Given the description of an element on the screen output the (x, y) to click on. 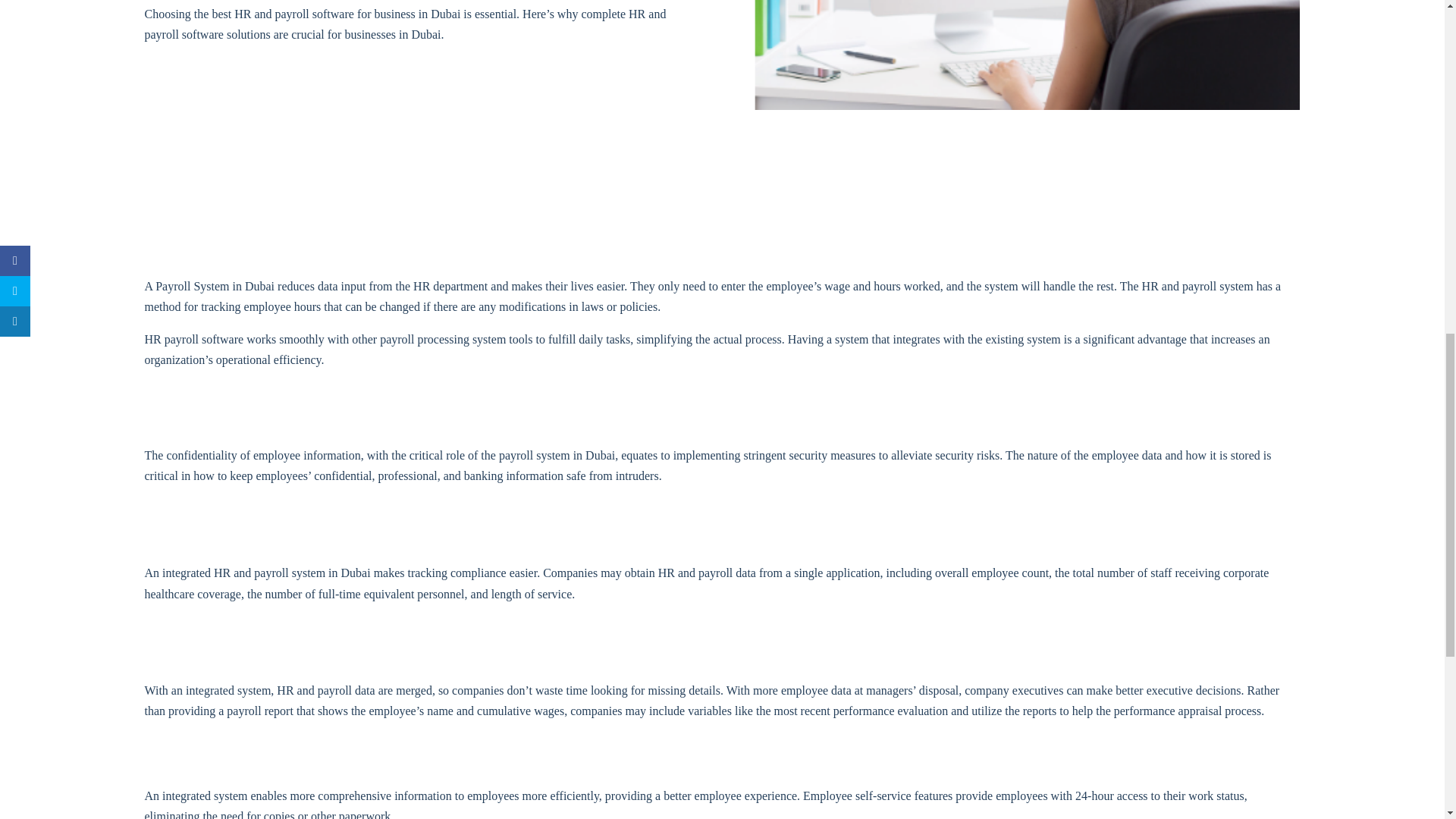
Complete HR and Payroll Software Solutions in Dubai (1027, 54)
